Given the description of an element on the screen output the (x, y) to click on. 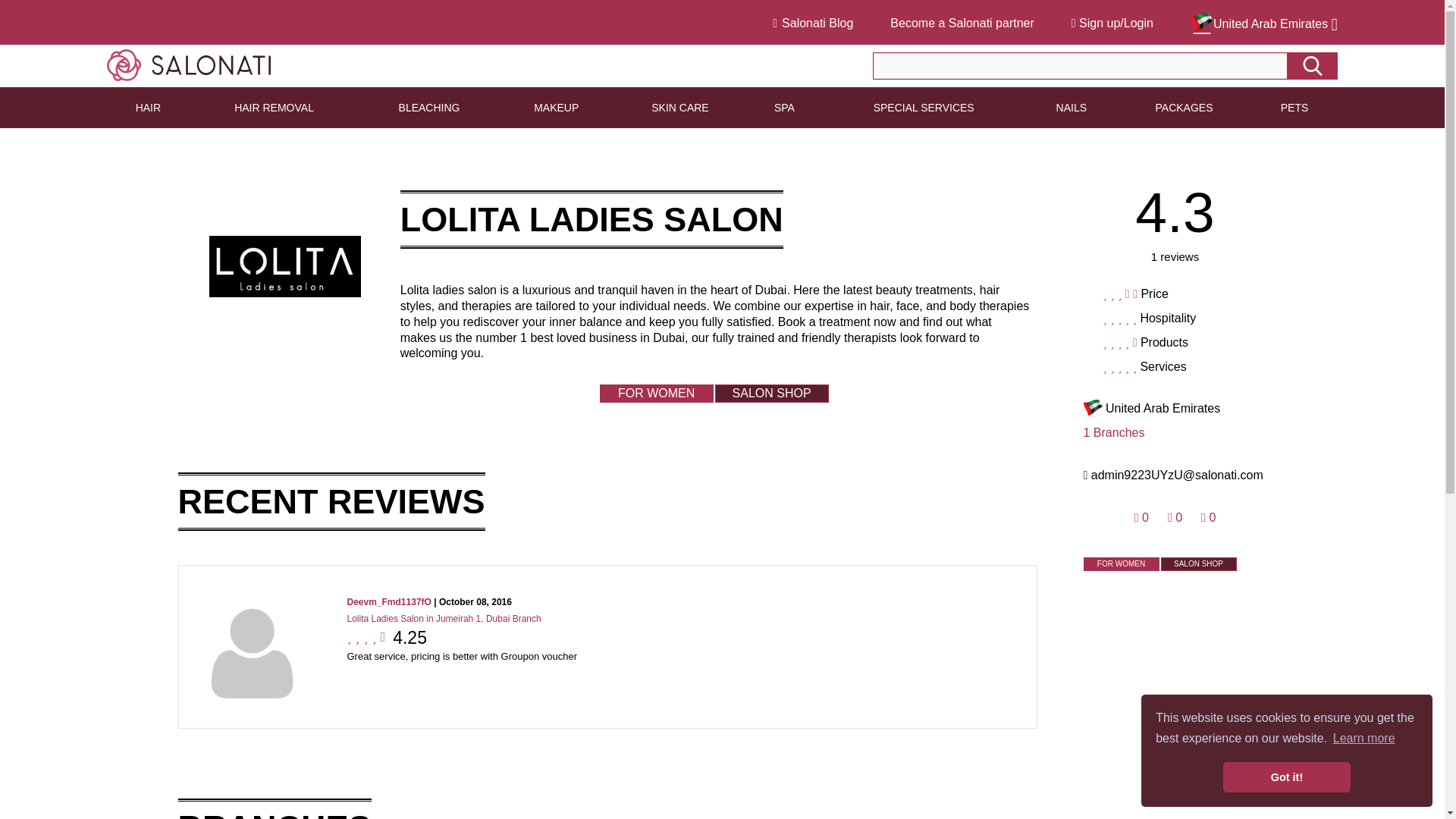
Learn more (1363, 738)
login (1177, 185)
United Arab Emirates (1264, 23)
Got it! (1286, 777)
HAIR (147, 106)
Become a Salonati partner (961, 22)
Join Salonati (1121, 457)
Salonati Blog (813, 22)
